Given the description of an element on the screen output the (x, y) to click on. 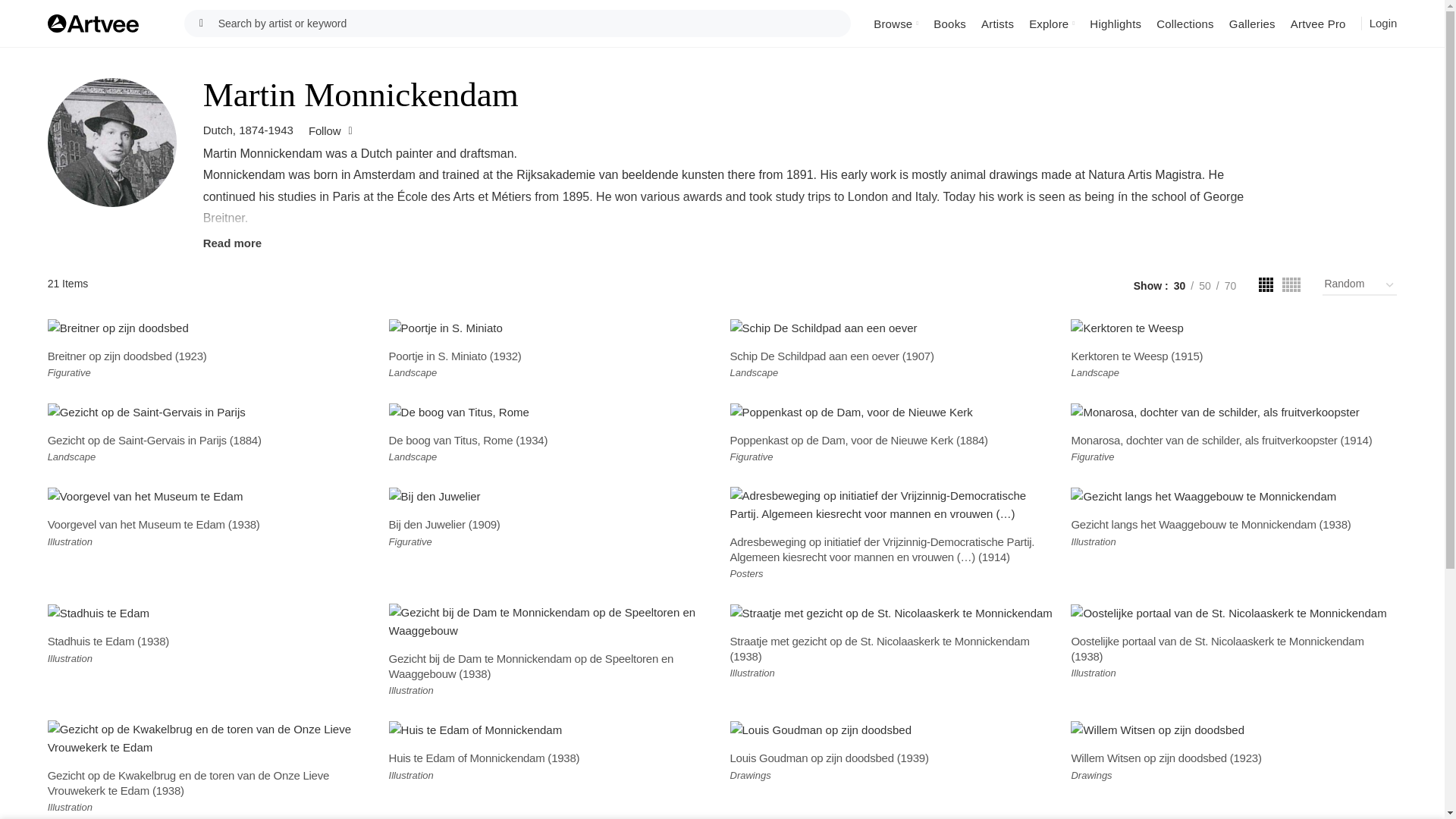
Login (1383, 22)
Collections (1184, 23)
SEARCH (201, 22)
30 (1180, 285)
Highlights (1114, 23)
Explore (1051, 23)
50 (1204, 285)
Galleries (1251, 23)
70 (1230, 285)
Login (1383, 23)
